Given the description of an element on the screen output the (x, y) to click on. 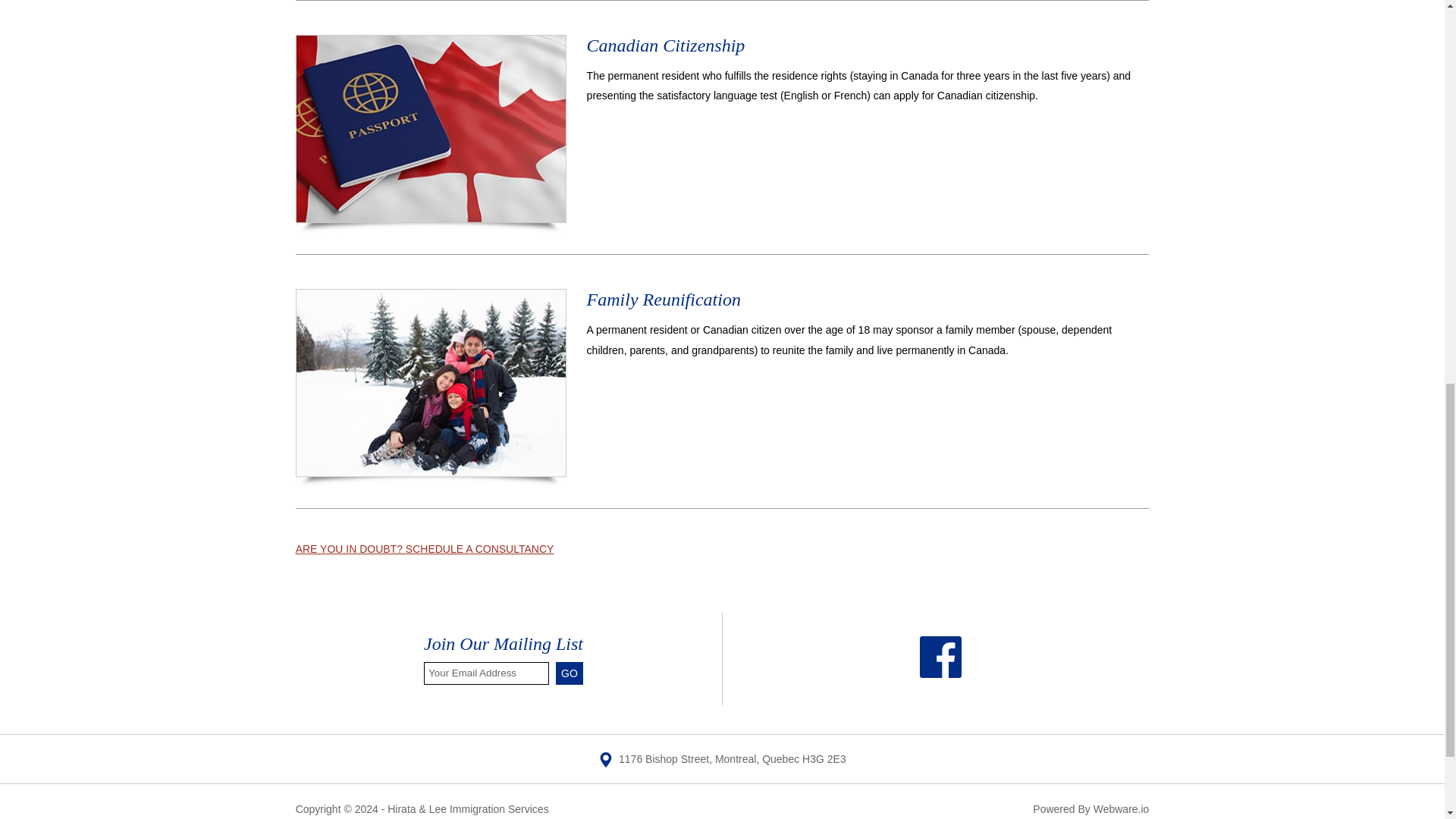
Your email address (485, 672)
ARE YOU IN DOUBT? SCHEDULE A CONSULTANCY (424, 548)
GO (569, 672)
Webware.io (1121, 808)
GO (569, 672)
1176 Bishop Street, Montreal, Quebec H3G 2E3 (721, 758)
